Given the description of an element on the screen output the (x, y) to click on. 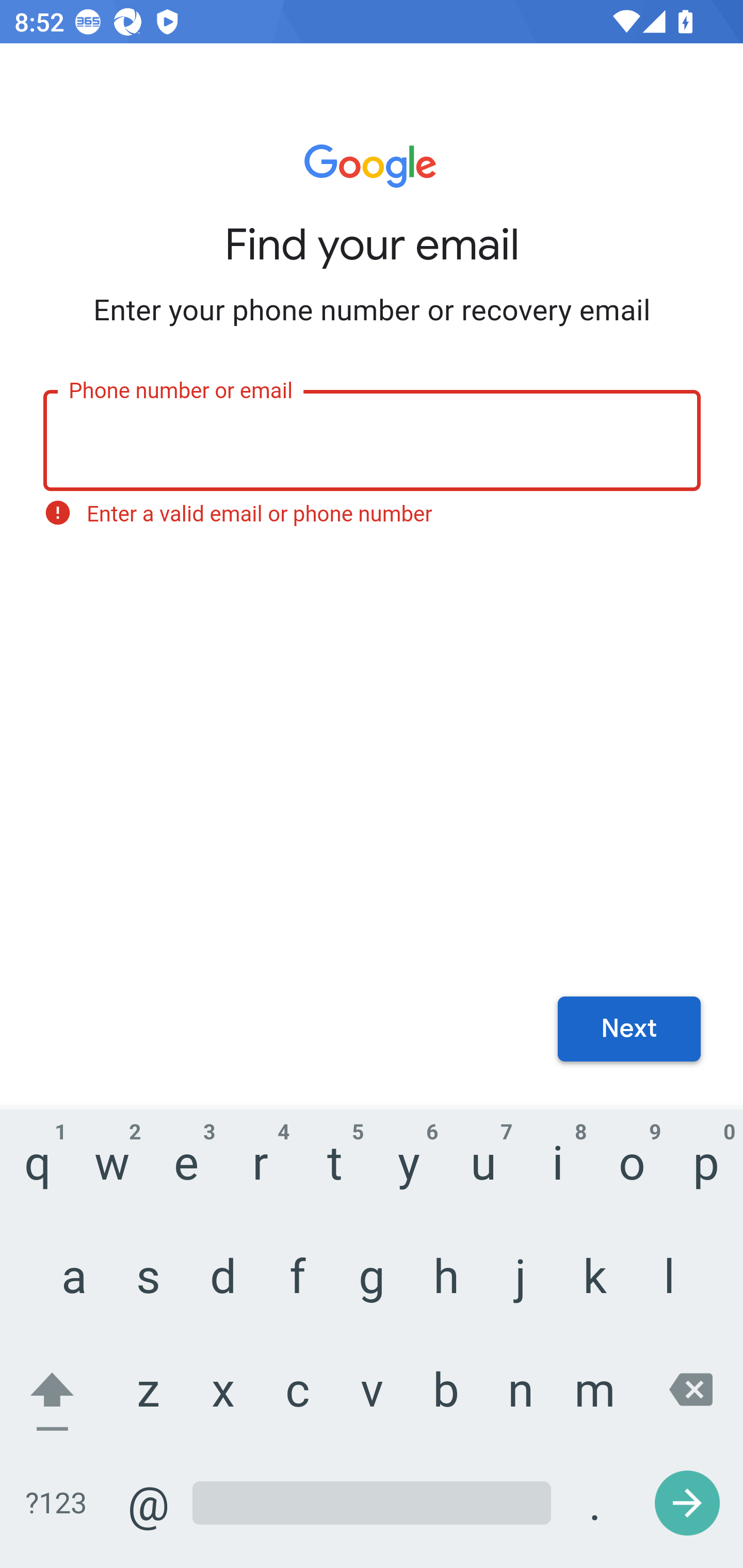
Next (629, 1029)
